Given the description of an element on the screen output the (x, y) to click on. 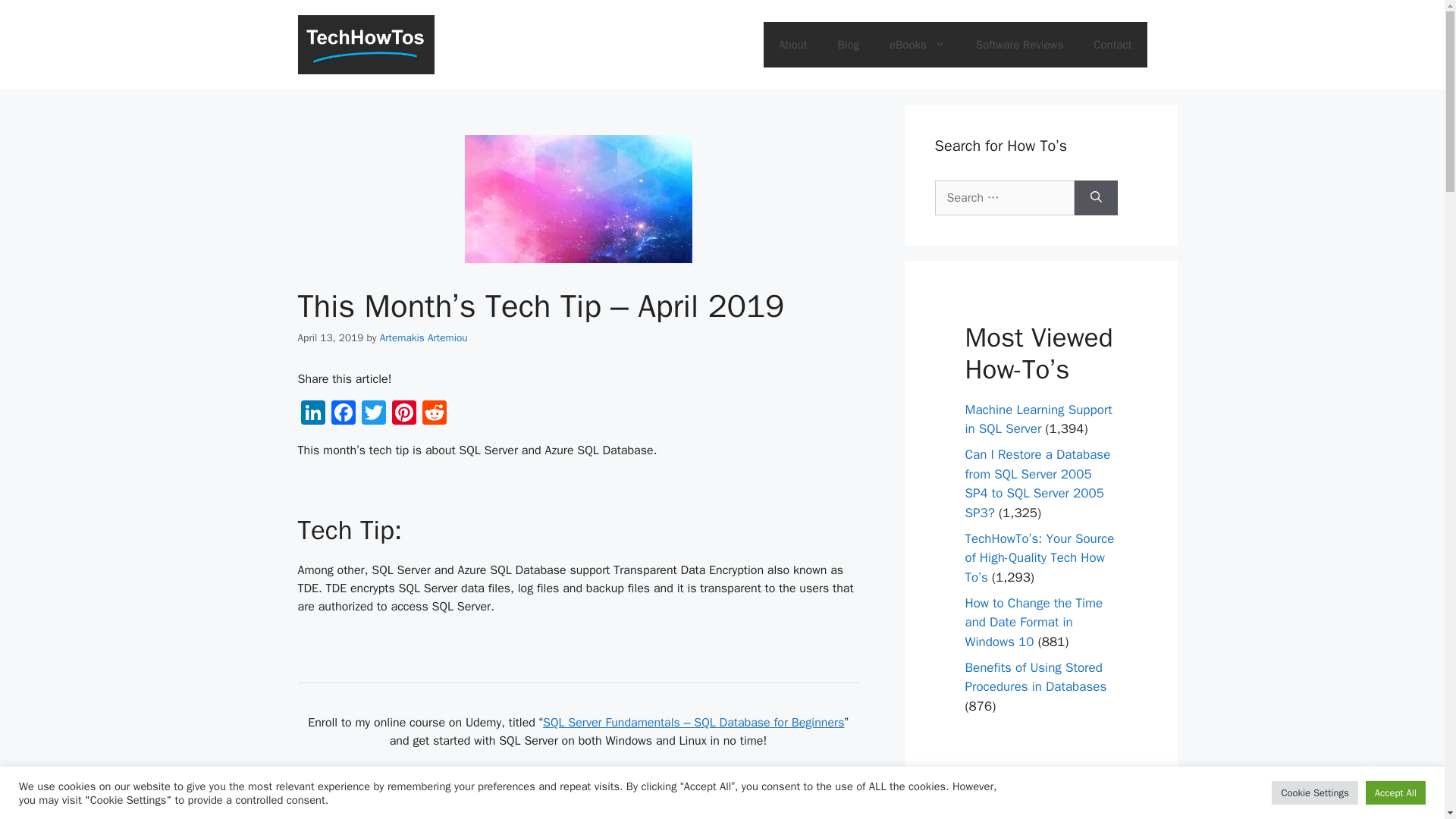
eBooks (917, 44)
Twitter (373, 414)
Reddit (433, 414)
Artemakis Artemiou (423, 337)
Pinterest (403, 414)
Search for: (1004, 197)
Pinterest (403, 414)
Blog (848, 44)
Twitter (373, 414)
View all posts by Artemakis Artemiou (423, 337)
